Given the description of an element on the screen output the (x, y) to click on. 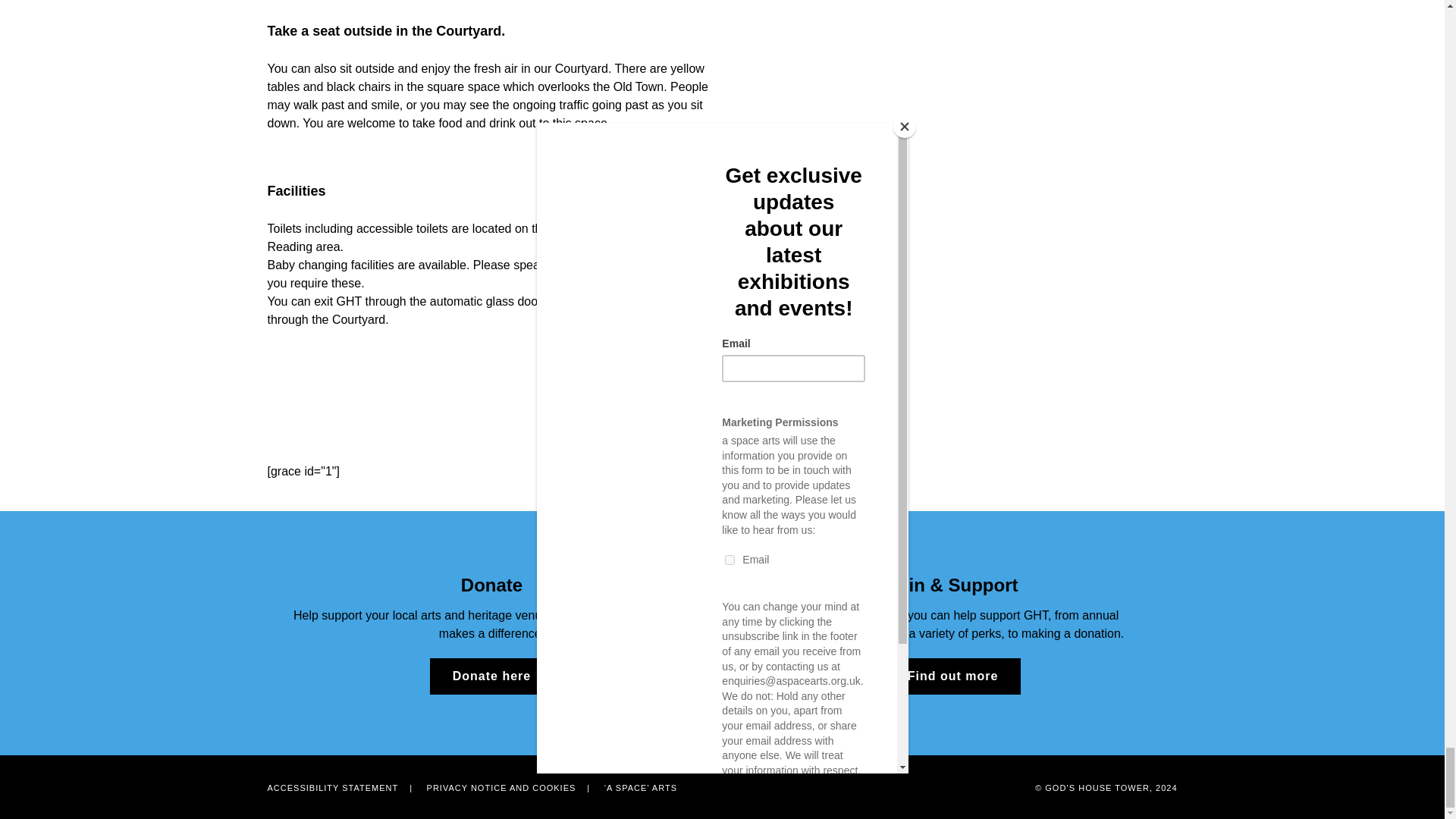
Find out more (953, 676)
Donate here (491, 675)
Donate here (491, 676)
